Given the description of an element on the screen output the (x, y) to click on. 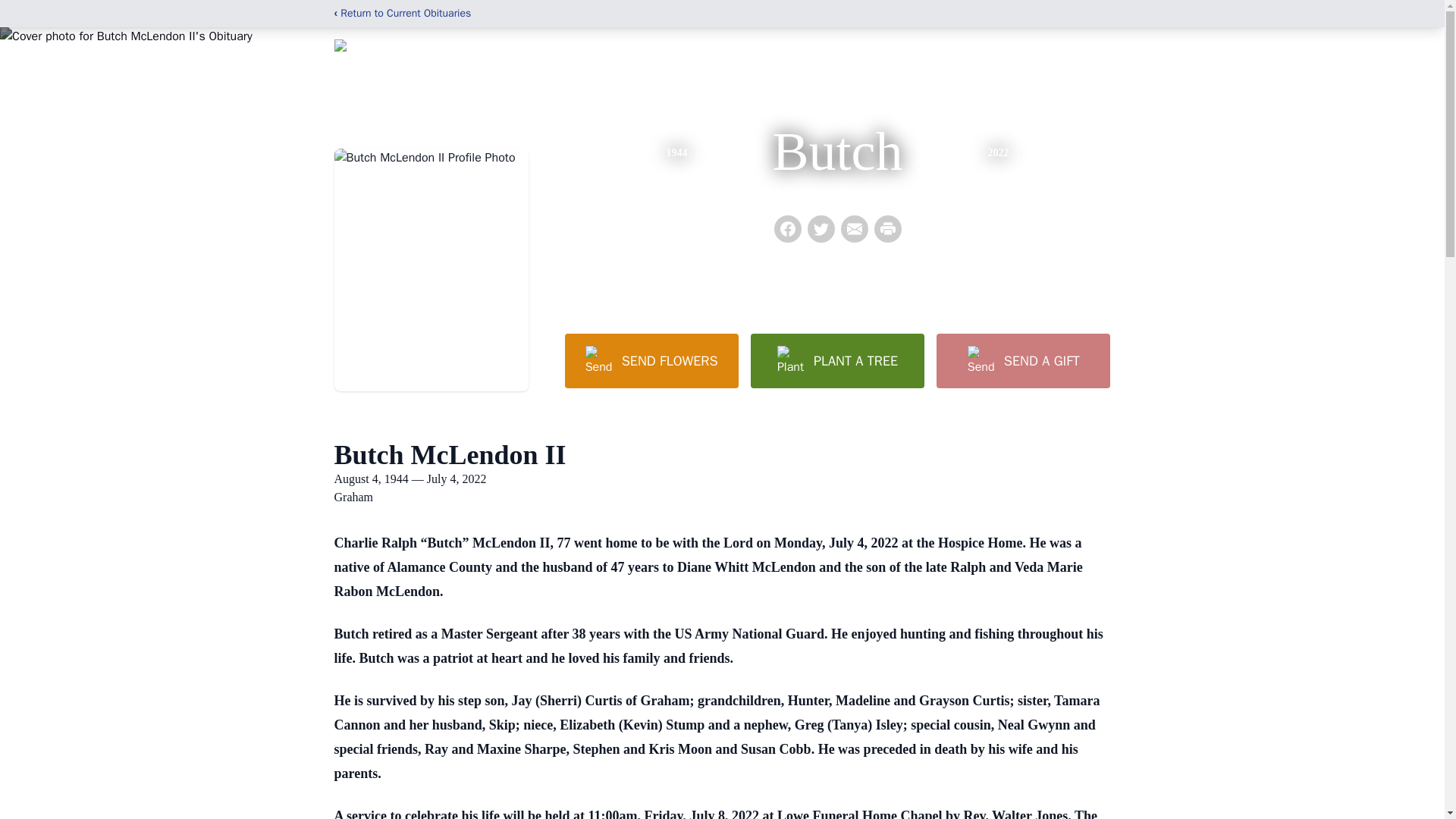
SEND FLOWERS (651, 360)
PLANT A TREE (837, 360)
SEND A GIFT (1022, 360)
